Given the description of an element on the screen output the (x, y) to click on. 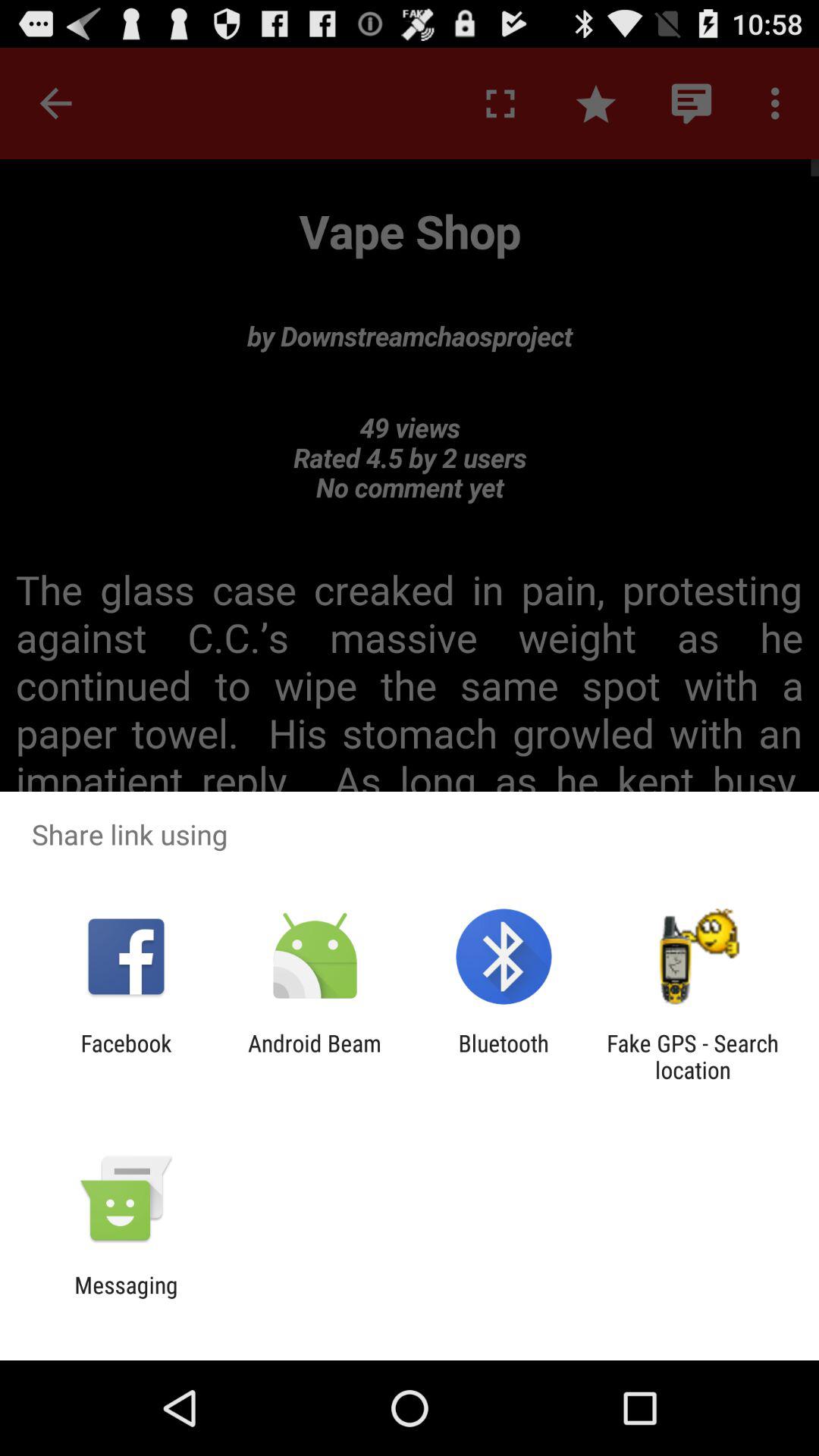
swipe to the android beam app (314, 1056)
